Given the description of an element on the screen output the (x, y) to click on. 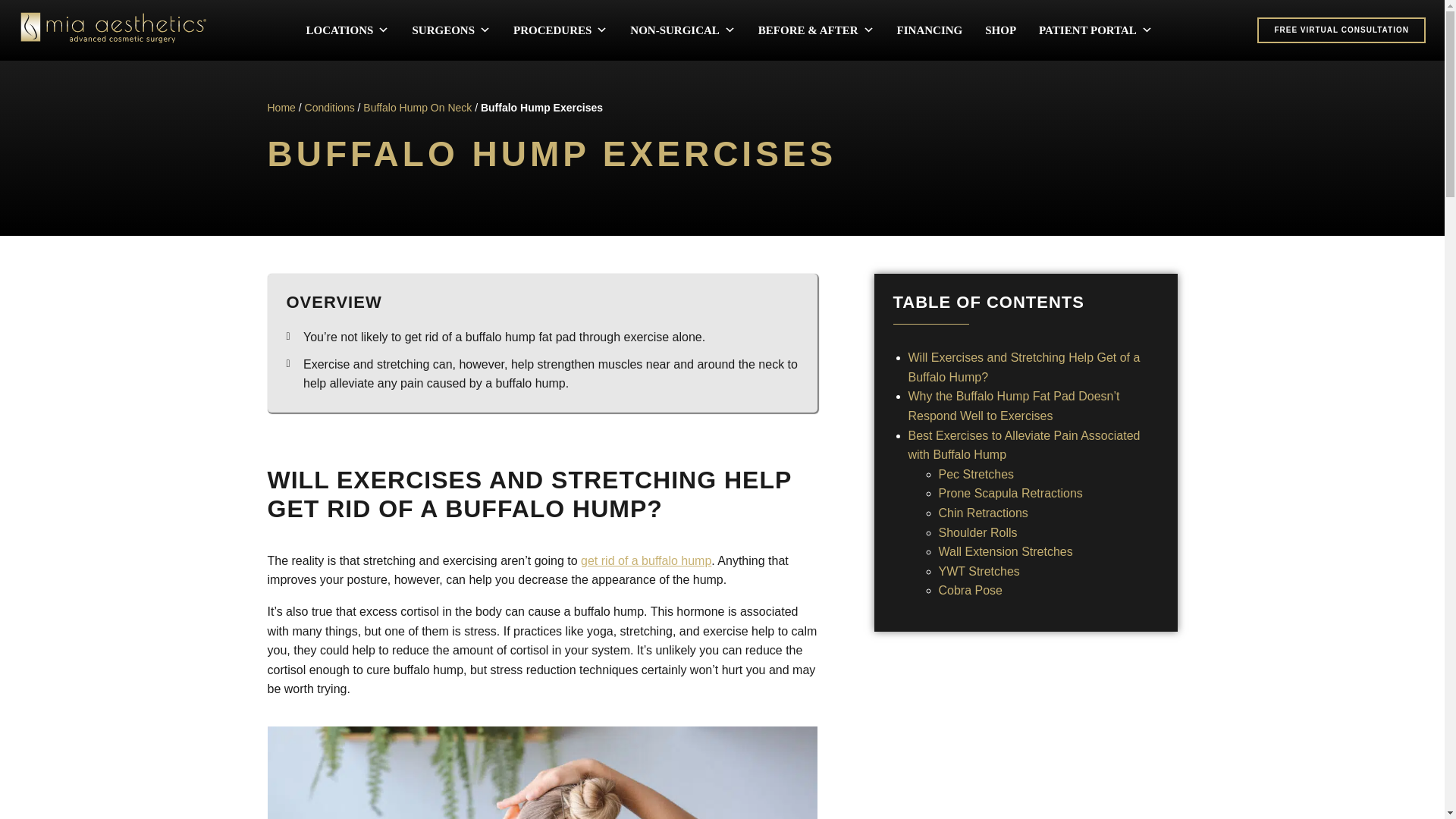
SURGEONS (450, 30)
LOCATIONS (347, 30)
Mia Aesthetics - Home (113, 40)
